Given the description of an element on the screen output the (x, y) to click on. 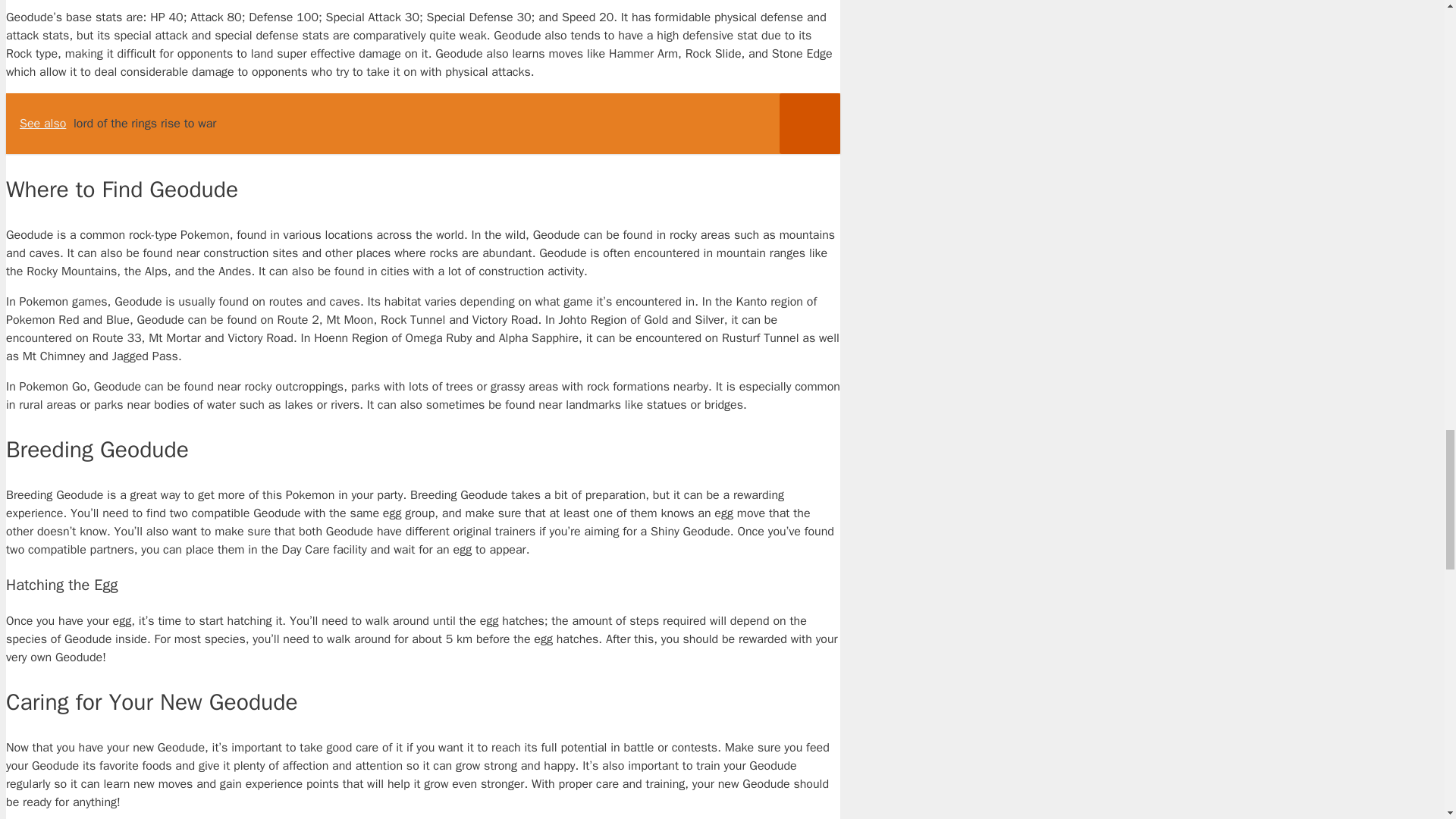
See also  lord of the rings rise to war (422, 123)
